Given the description of an element on the screen output the (x, y) to click on. 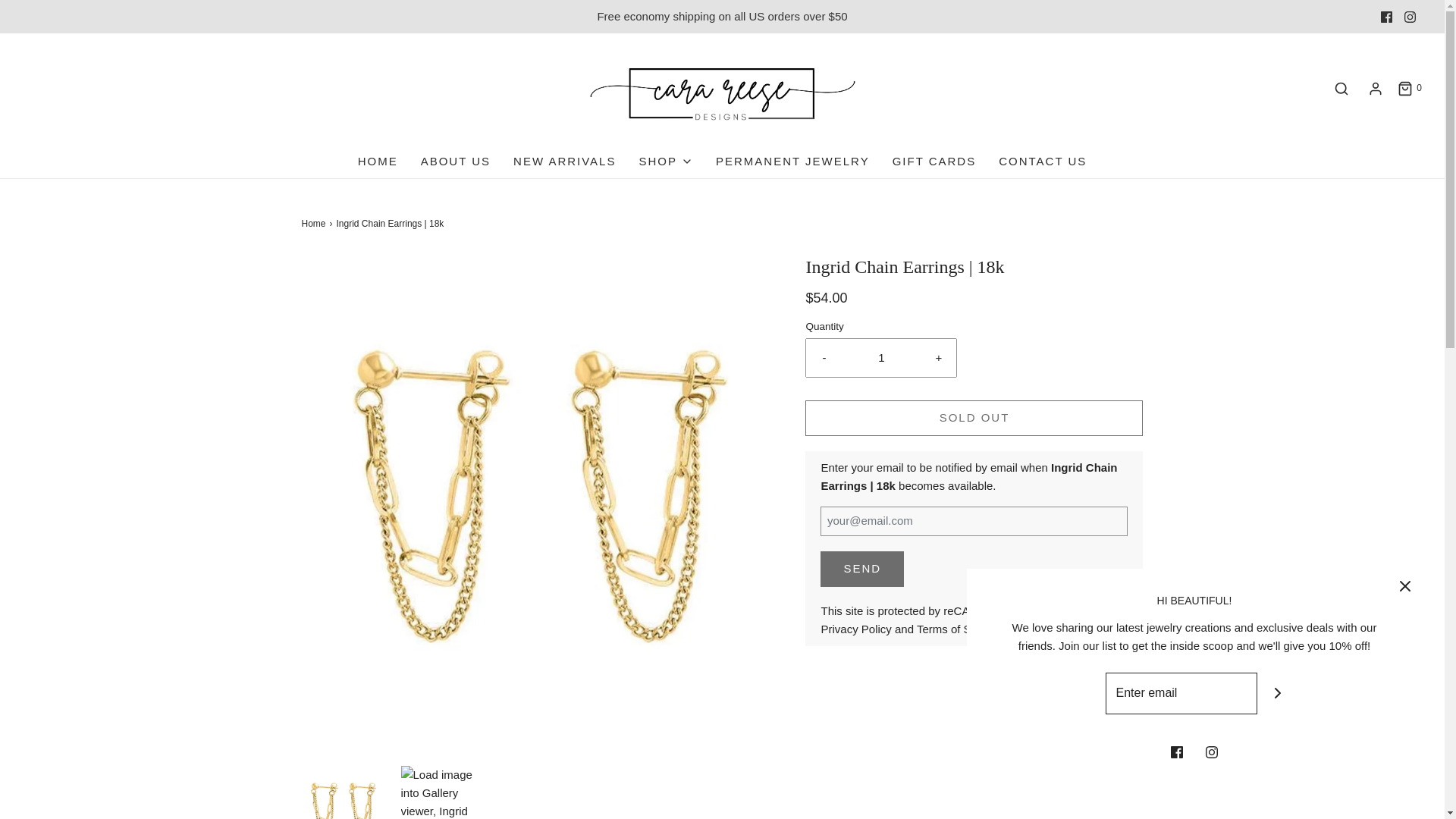
1 (881, 357)
Back to the frontpage (315, 223)
Facebook icon (1385, 15)
Instagram icon (1410, 16)
Send (862, 569)
Cart (1409, 88)
Search (1341, 88)
Facebook icon (1385, 16)
Instagram icon (1409, 15)
Log in (1375, 88)
